Given the description of an element on the screen output the (x, y) to click on. 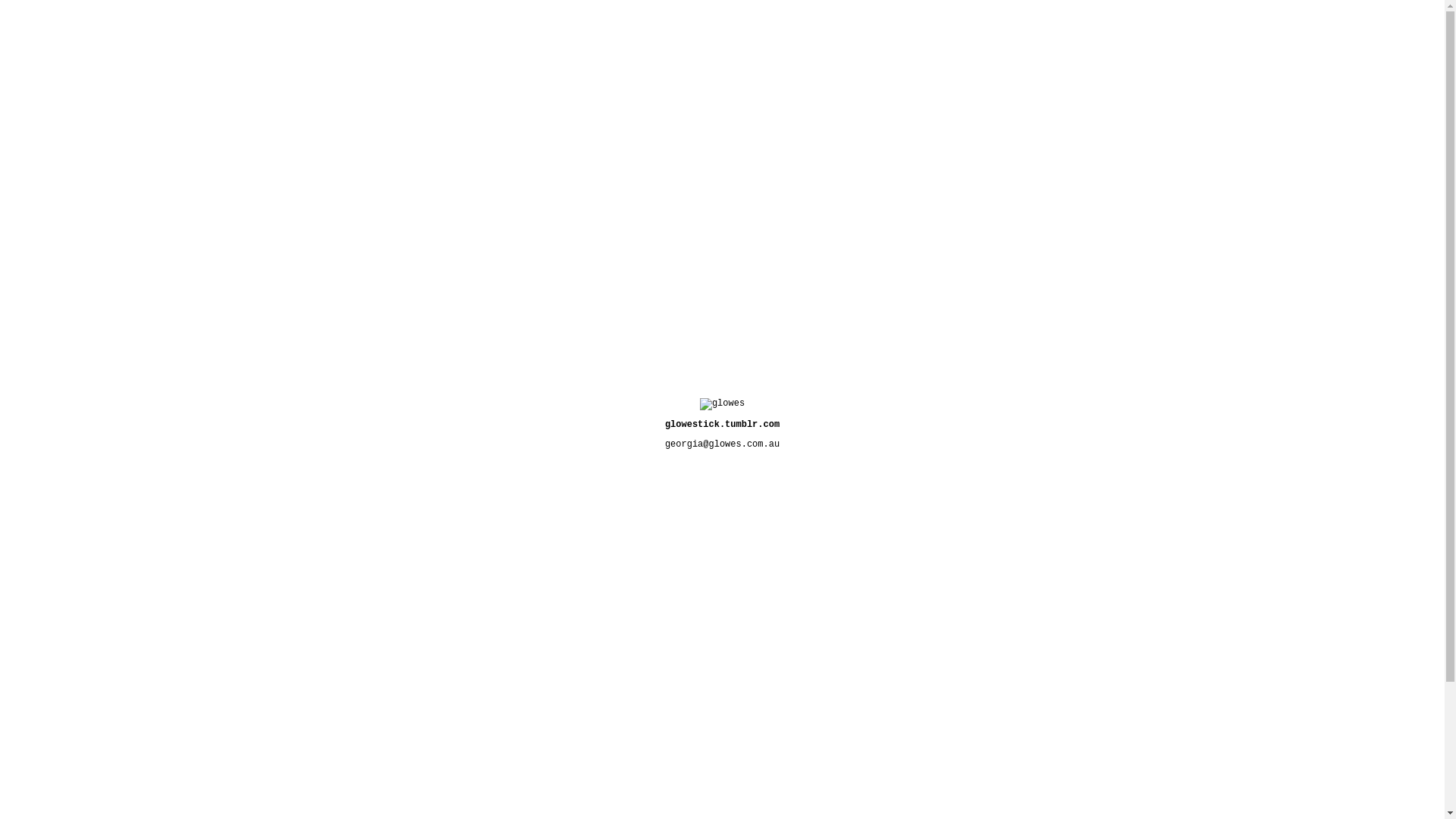
glowestick.tumblr.com Element type: text (722, 424)
